Given the description of an element on the screen output the (x, y) to click on. 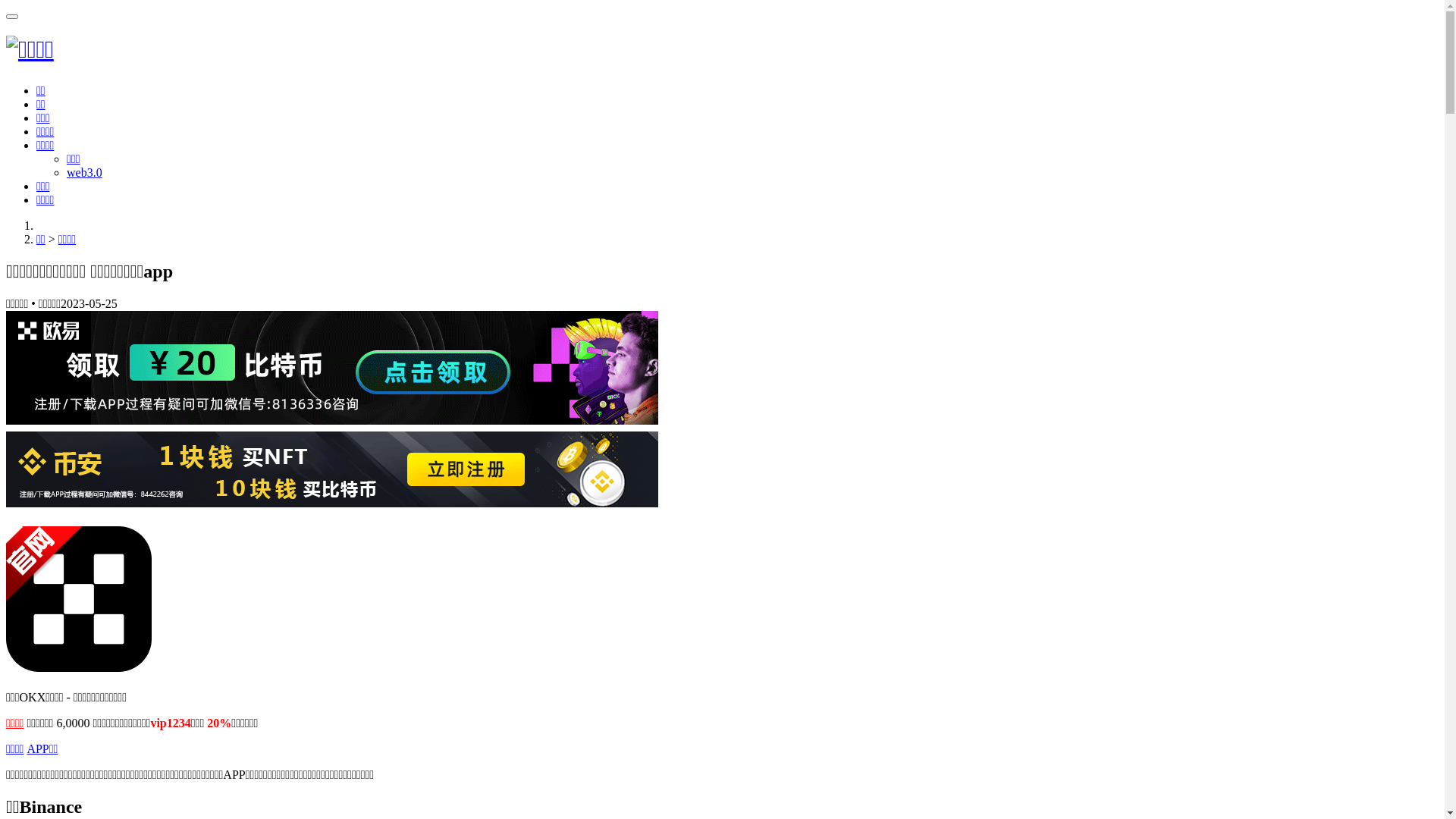
web3.0 Element type: text (84, 172)
